Given the description of an element on the screen output the (x, y) to click on. 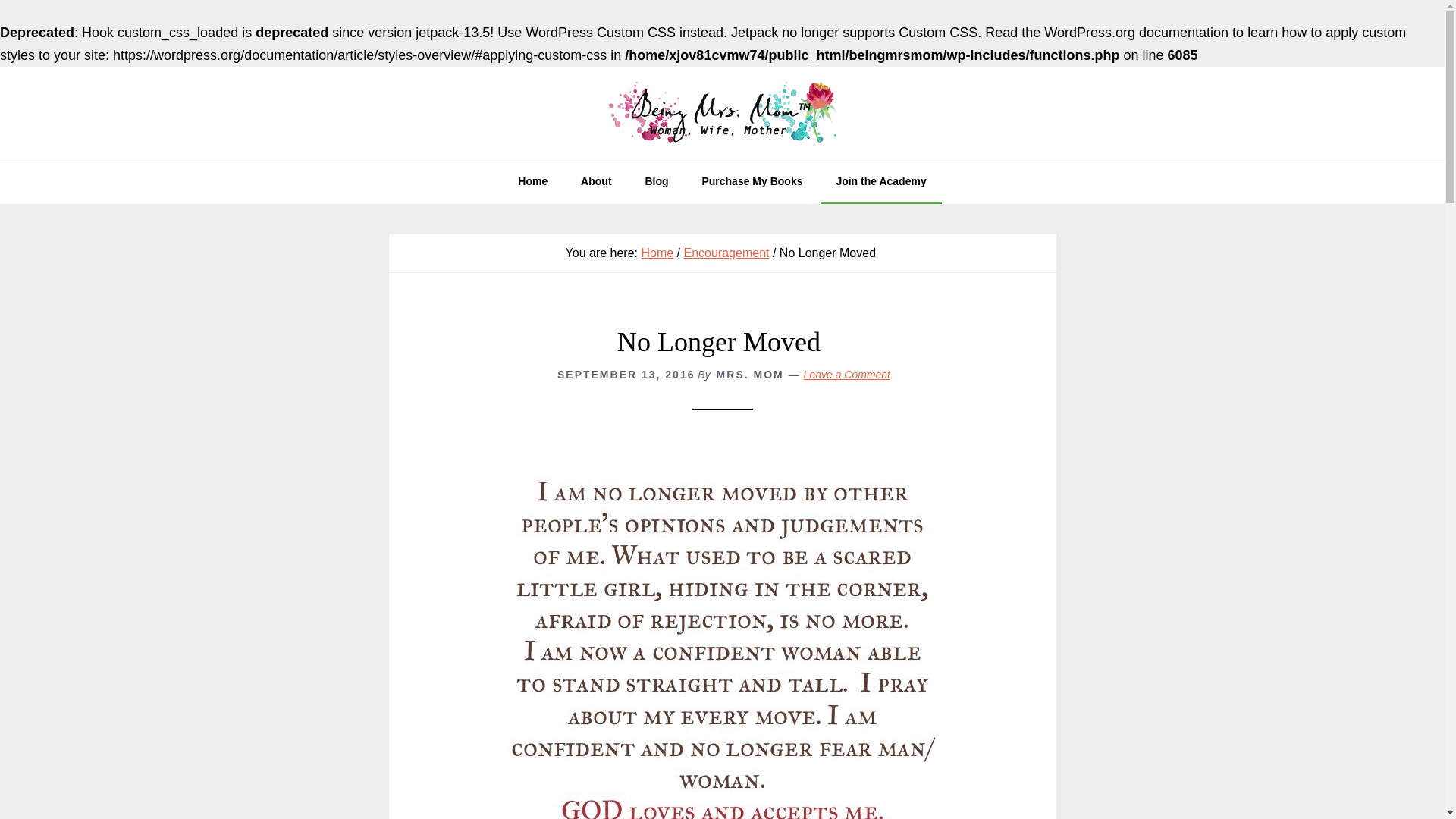
Join the Academy (880, 180)
Home (656, 252)
Home (532, 180)
Encouragement (727, 252)
Leave a Comment (846, 374)
About (596, 180)
Purchase My Books (750, 180)
Blog (655, 180)
MRS. MOM (750, 374)
